Given the description of an element on the screen output the (x, y) to click on. 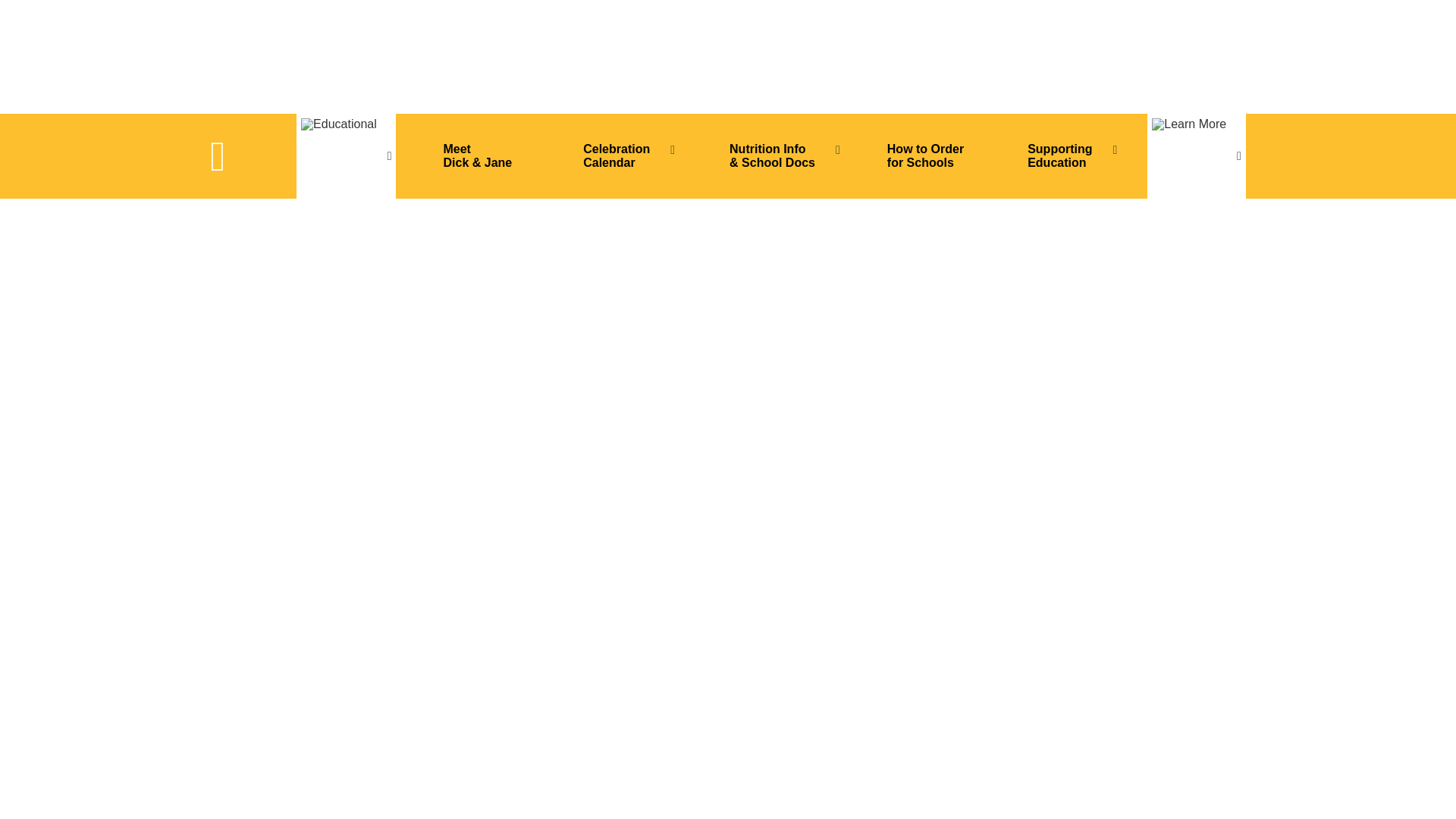
Learn more about our products (1196, 155)
Learn more about our products (346, 155)
Home (230, 155)
For Educators and Faculty (776, 156)
